Given the description of an element on the screen output the (x, y) to click on. 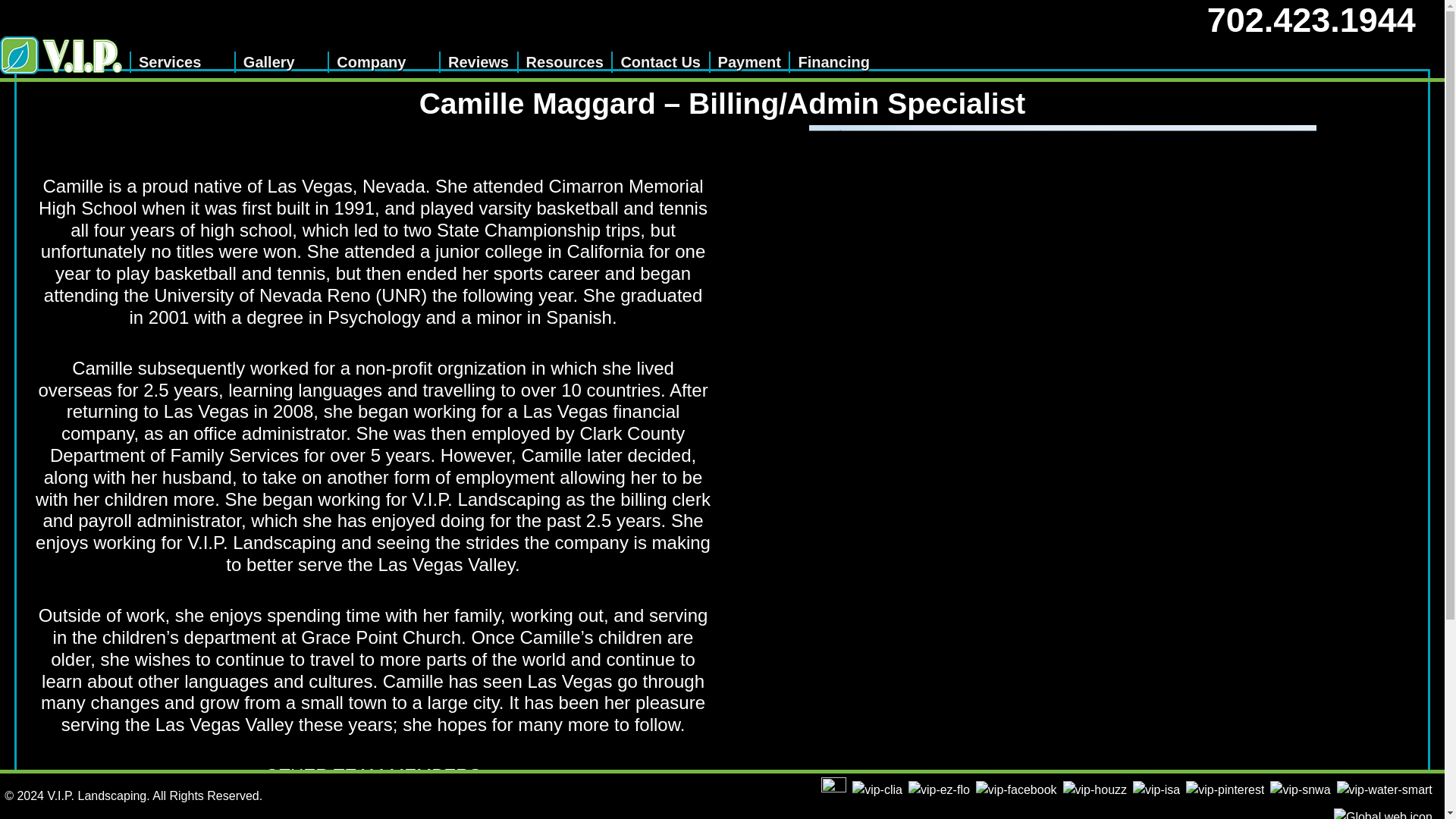
Company (380, 61)
Financing (830, 61)
Reviews (475, 61)
Contact Us (657, 61)
OTHER TEAM MEMBERS (372, 776)
Services (179, 61)
V.I.P. Landscaping (63, 54)
Gallery (278, 61)
Payment (746, 61)
Resources (561, 61)
